Given the description of an element on the screen output the (x, y) to click on. 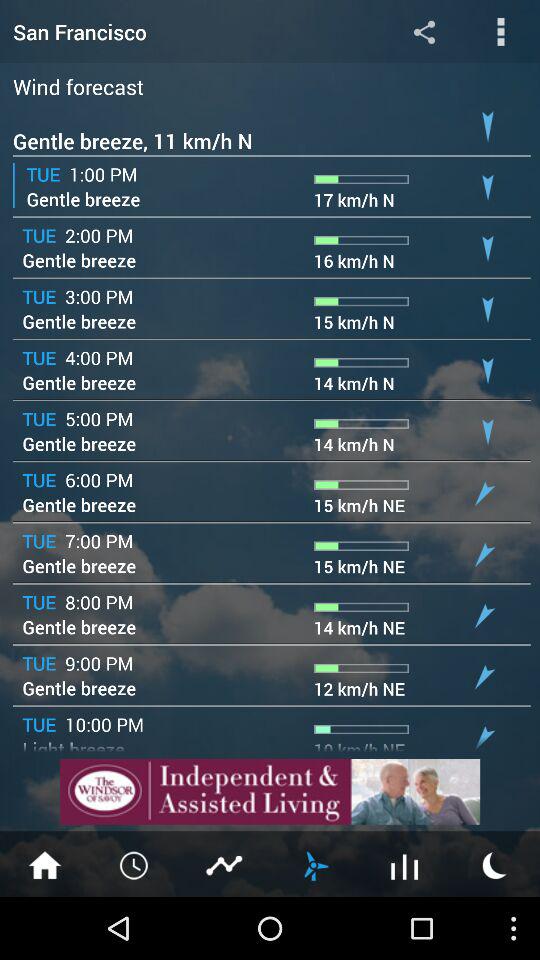
click to view add (270, 791)
